Given the description of an element on the screen output the (x, y) to click on. 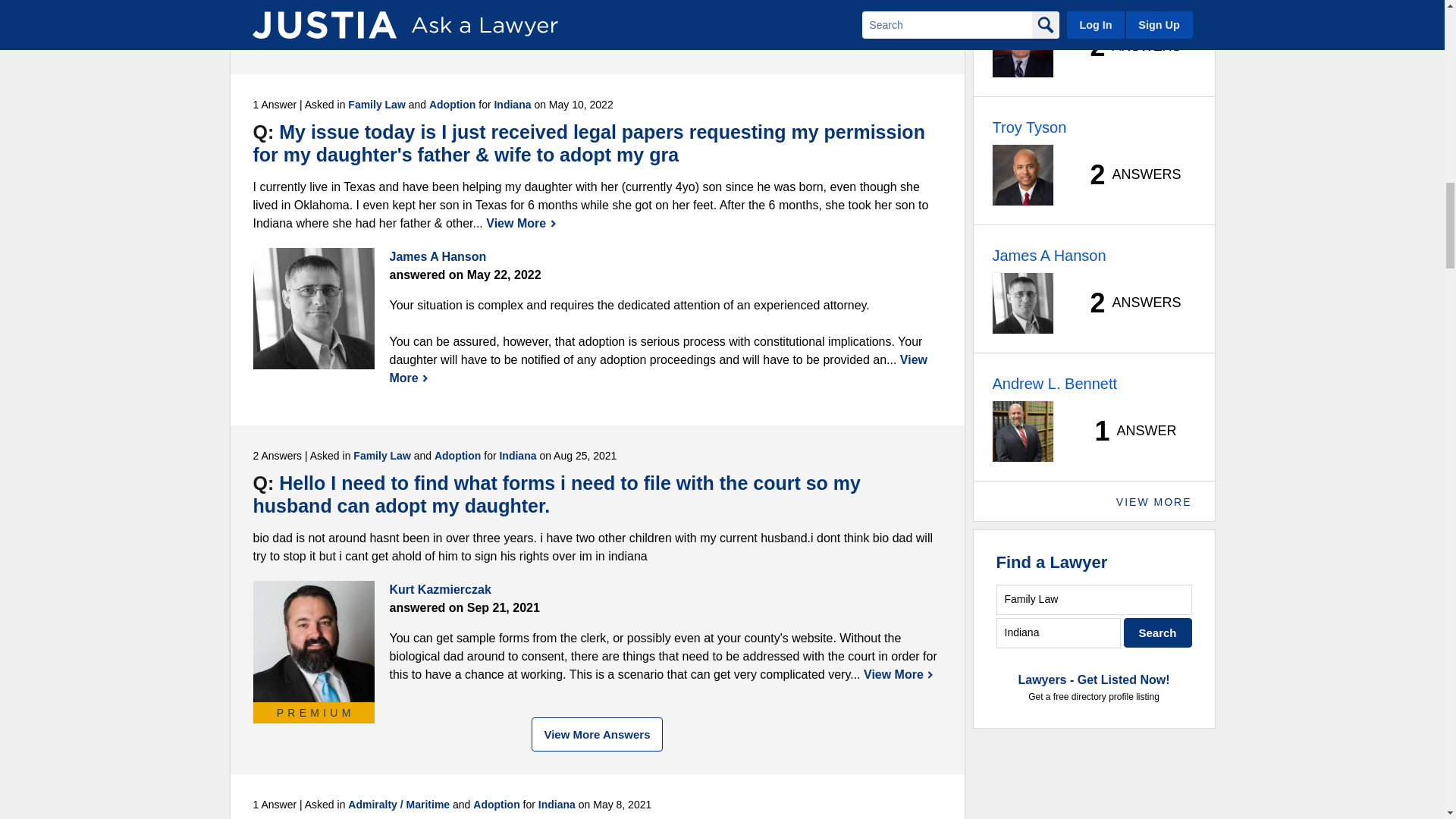
Family Law (1093, 599)
James A Hanson (313, 18)
Indiana (1058, 632)
James A Hanson (313, 308)
Kurt Kazmierczak (313, 640)
Search (1158, 632)
Search (1158, 632)
